Given the description of an element on the screen output the (x, y) to click on. 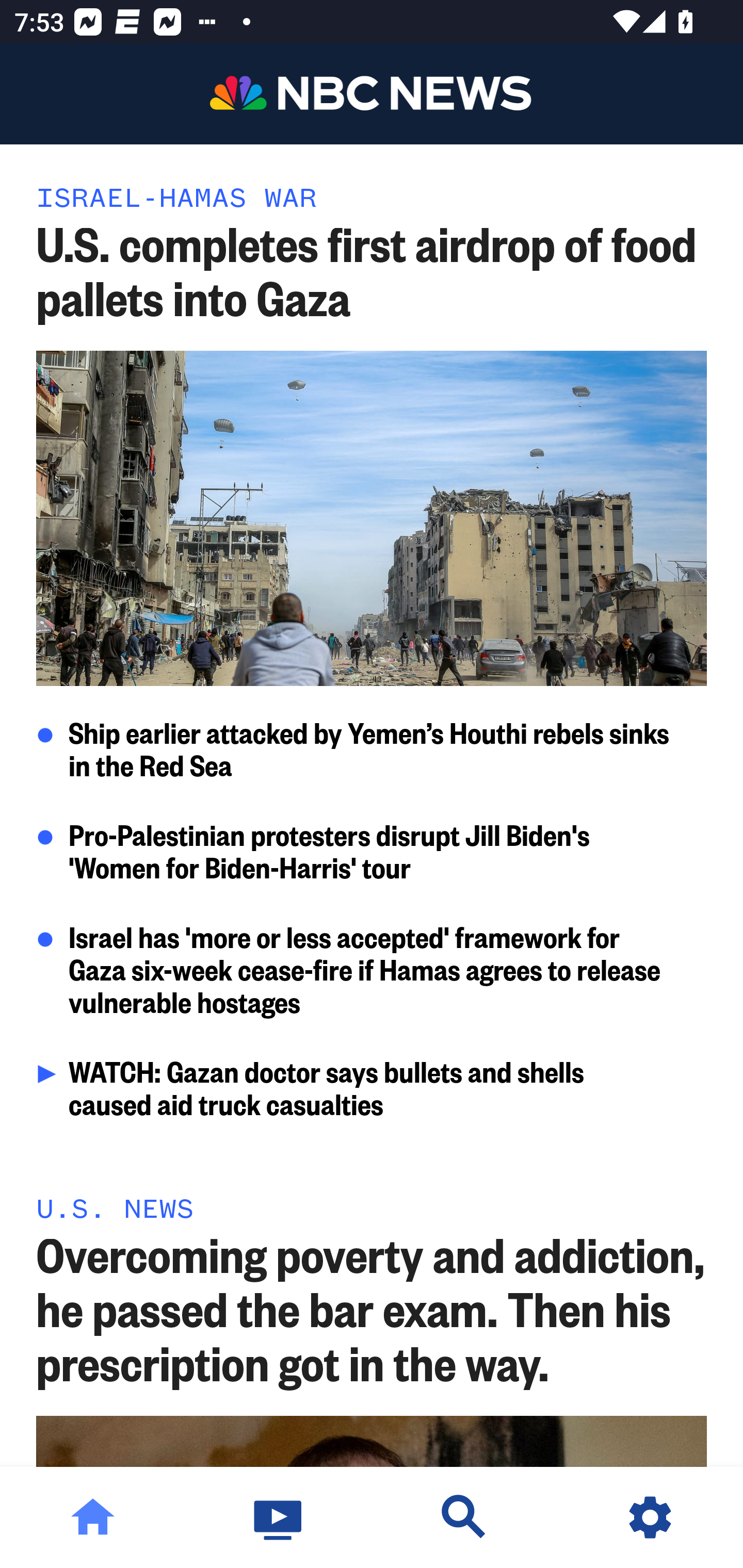
Watch (278, 1517)
Discover (464, 1517)
Settings (650, 1517)
